Given the description of an element on the screen output the (x, y) to click on. 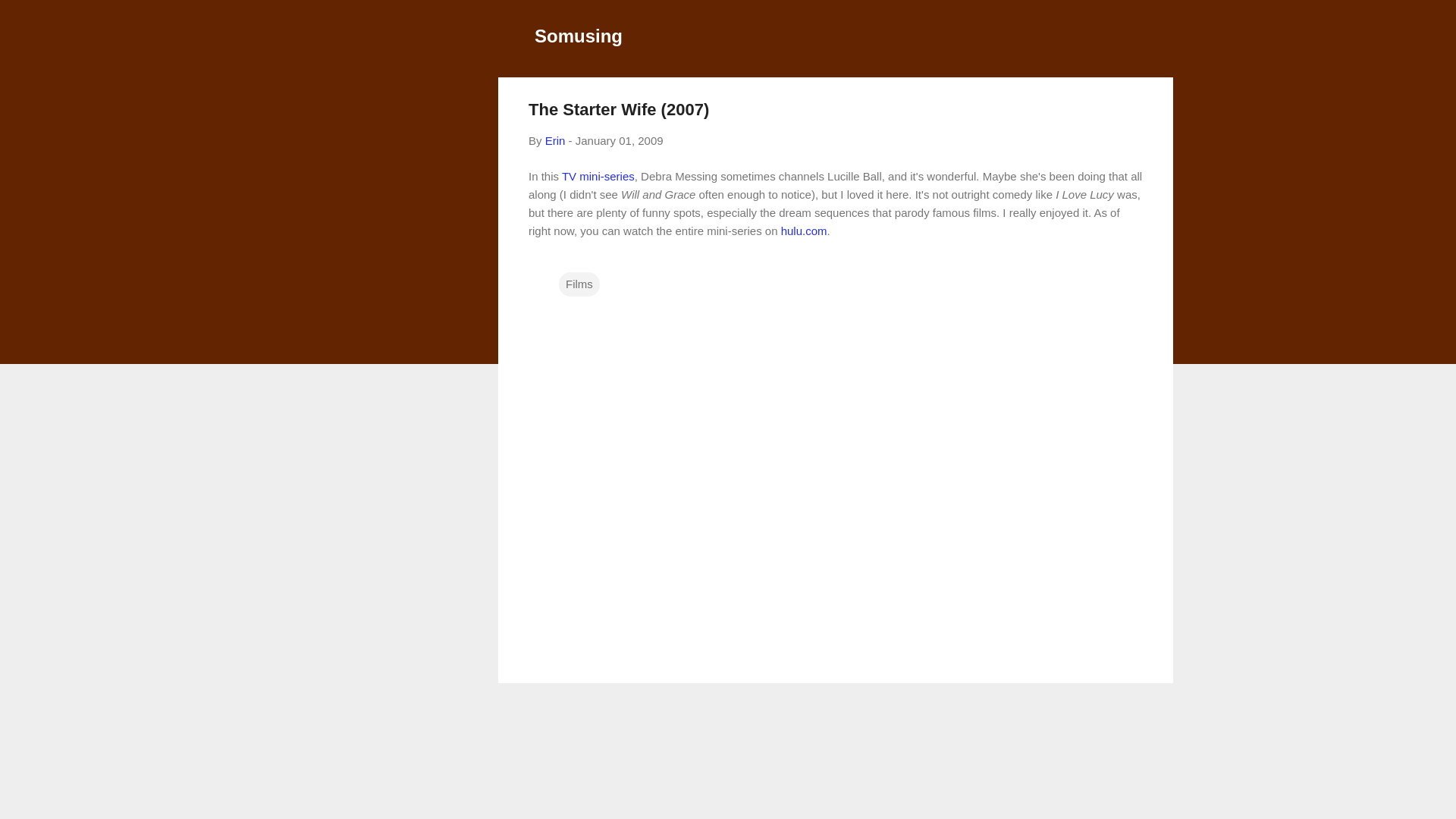
Erin (555, 140)
hulu.com (803, 230)
author profile (555, 140)
permanent link (619, 140)
Search (29, 18)
January 01, 2009 (619, 140)
TV mini-series (598, 175)
Films (579, 283)
Somusing (578, 35)
